Given the description of an element on the screen output the (x, y) to click on. 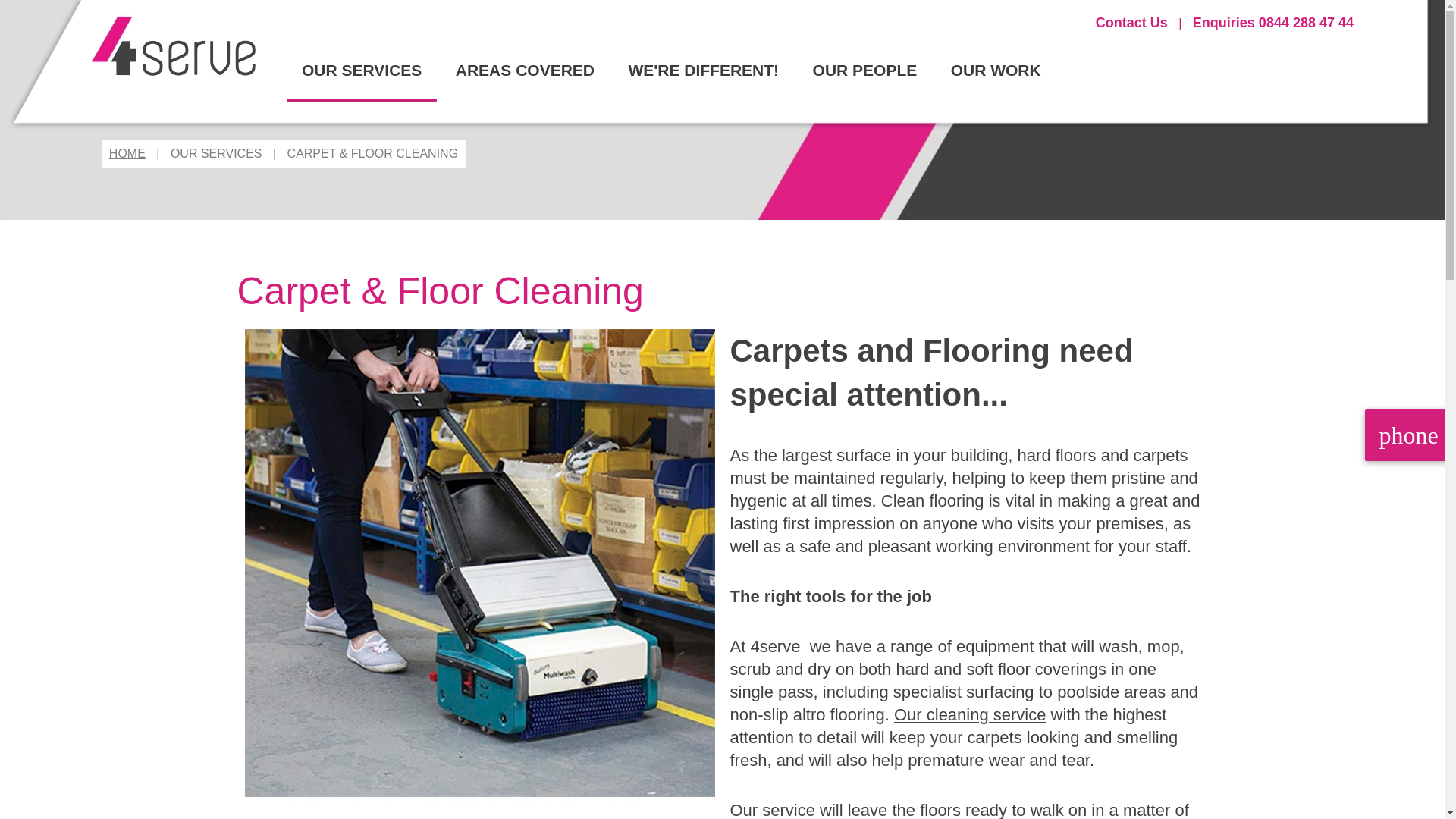
Contact Us (1131, 22)
Go to Our Services (361, 70)
Our cleaning service (969, 714)
OUR WORK (996, 70)
HOME (127, 153)
OUR SERVICES (216, 153)
AREAS COVERED (525, 70)
OUR PEOPLE (865, 70)
OUR SERVICES (361, 70)
Go to Our People (865, 70)
